Given the description of an element on the screen output the (x, y) to click on. 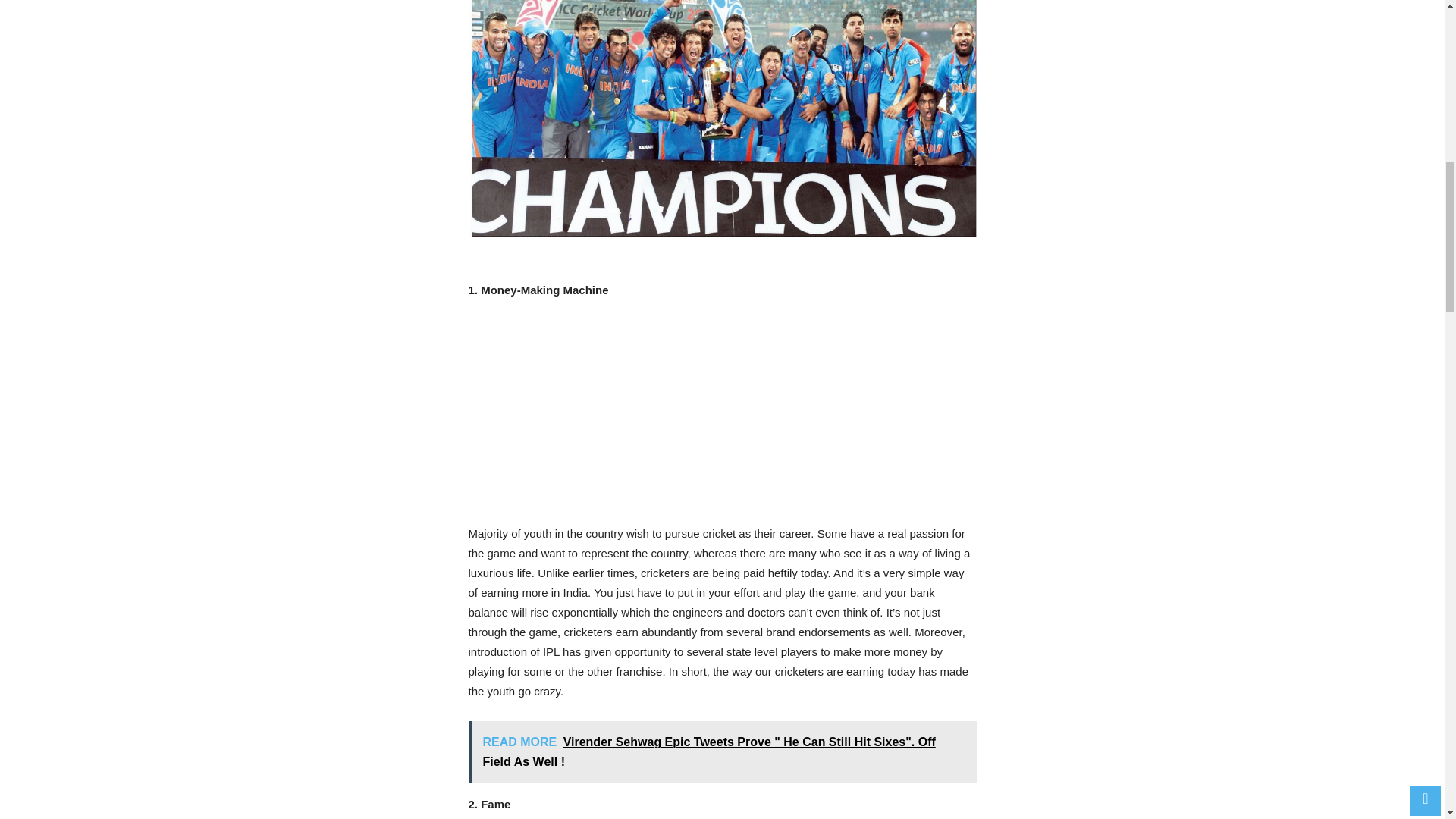
3rd party ad content (721, 417)
